Given the description of an element on the screen output the (x, y) to click on. 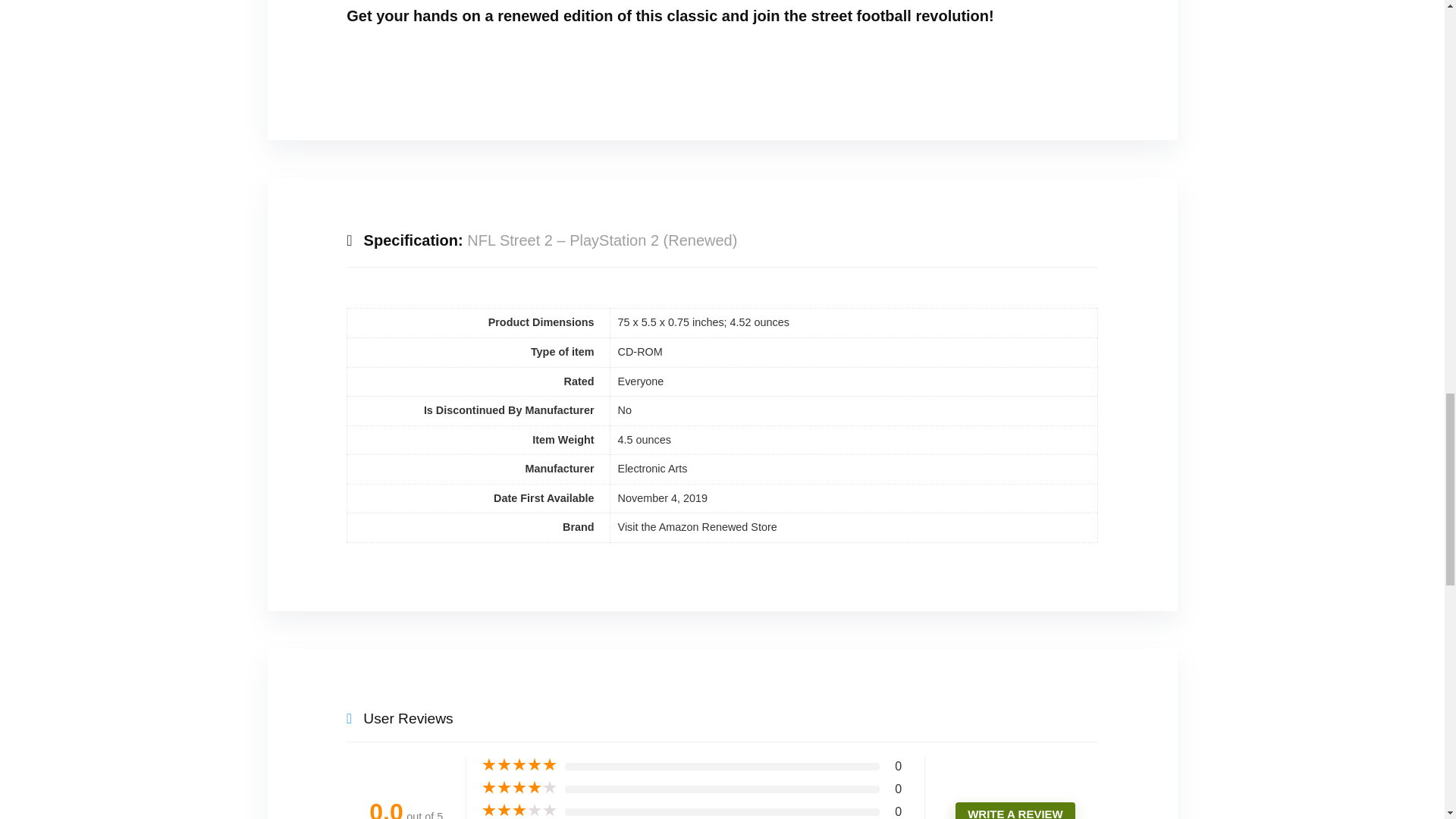
WRITE A REVIEW (1015, 810)
Rated 5 out of 5 (519, 765)
Rated 3 out of 5 (519, 810)
Rated 4 out of 5 (519, 787)
